Given the description of an element on the screen output the (x, y) to click on. 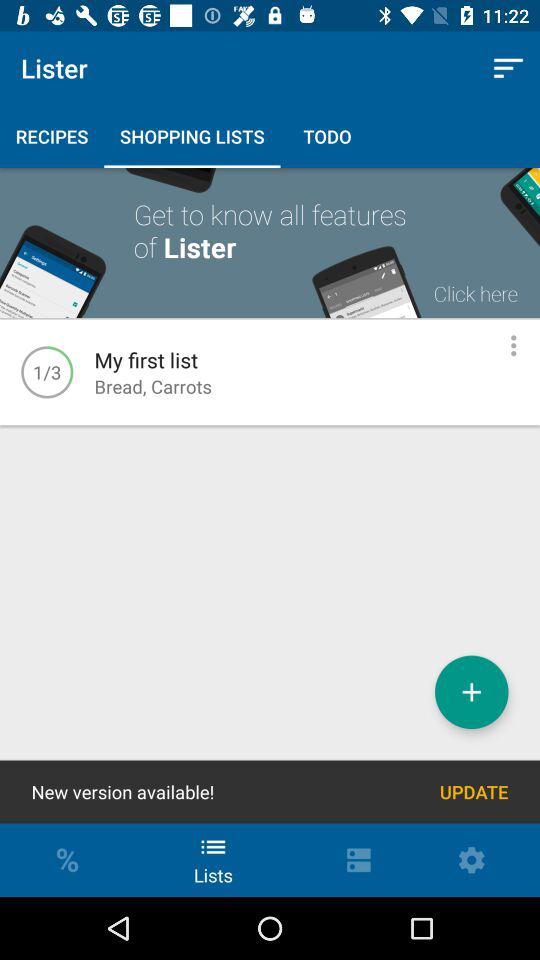
open the icon to the right of the new version available! item (474, 791)
